Given the description of an element on the screen output the (x, y) to click on. 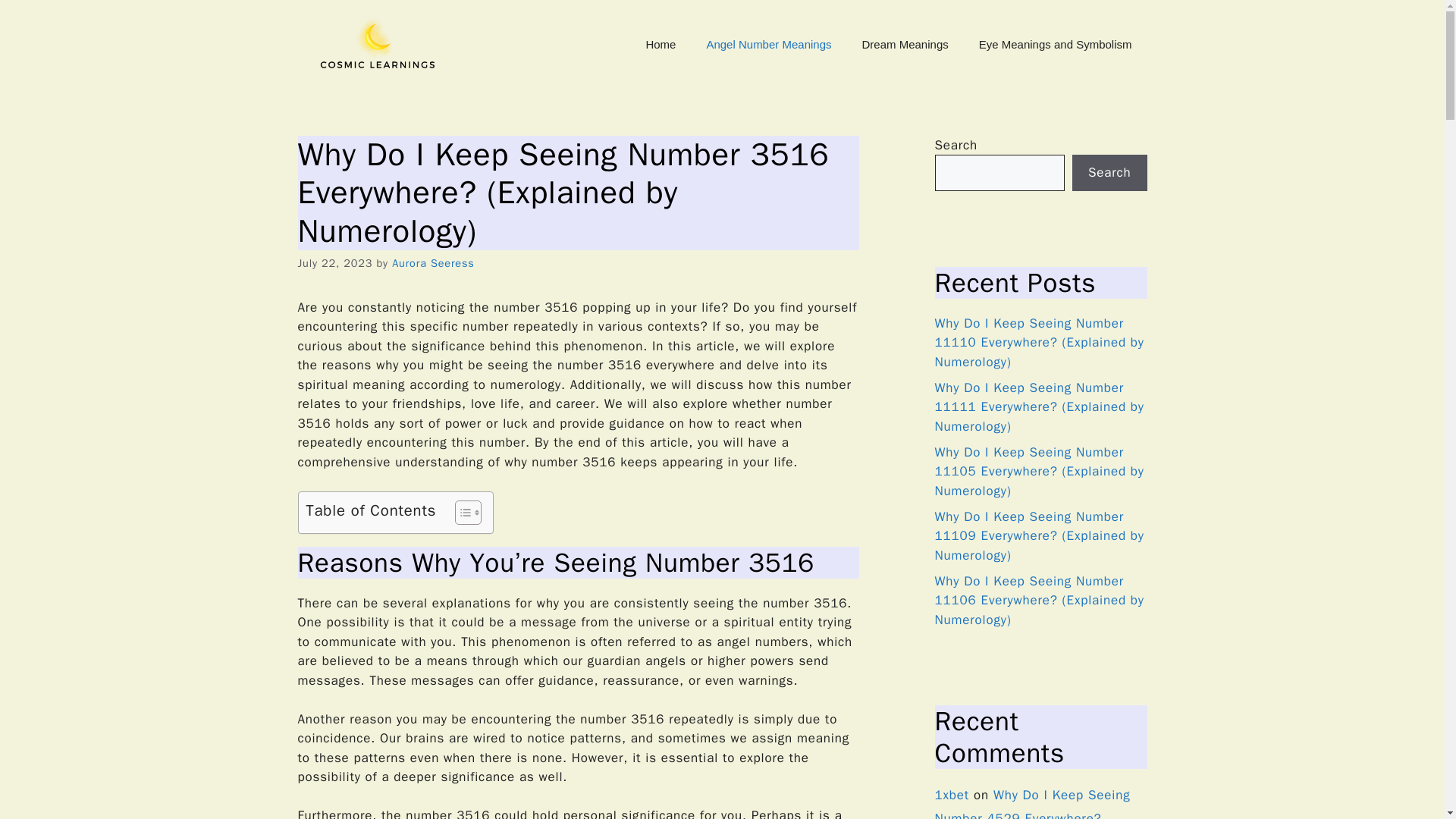
Home (660, 44)
Eye Meanings and Symbolism (1055, 44)
View all posts by Aurora Seeress (432, 263)
Aurora Seeress (432, 263)
Angel Number Meanings (767, 44)
Dream Meanings (905, 44)
